Given the description of an element on the screen output the (x, y) to click on. 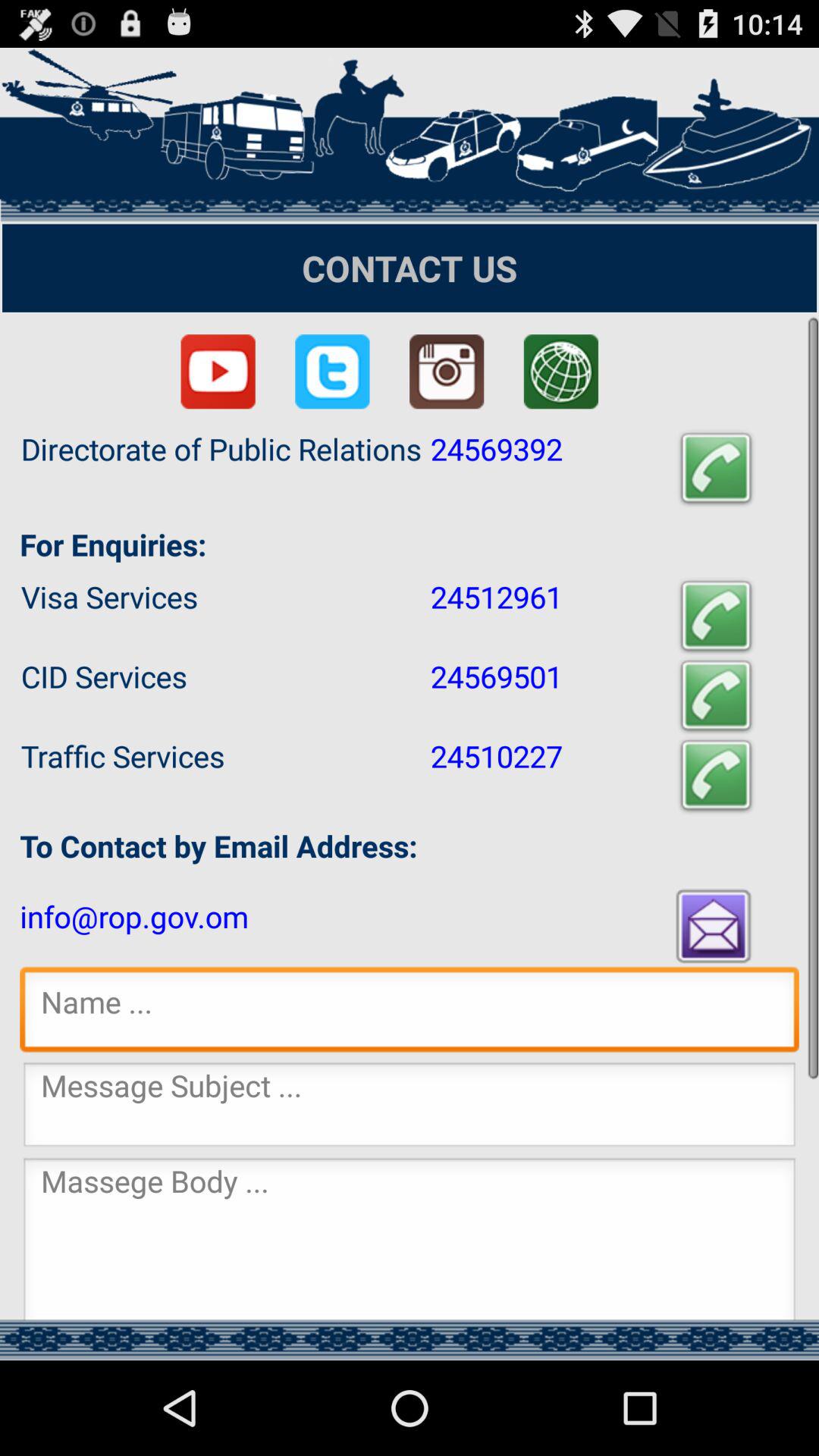
call button (716, 468)
